Given the description of an element on the screen output the (x, y) to click on. 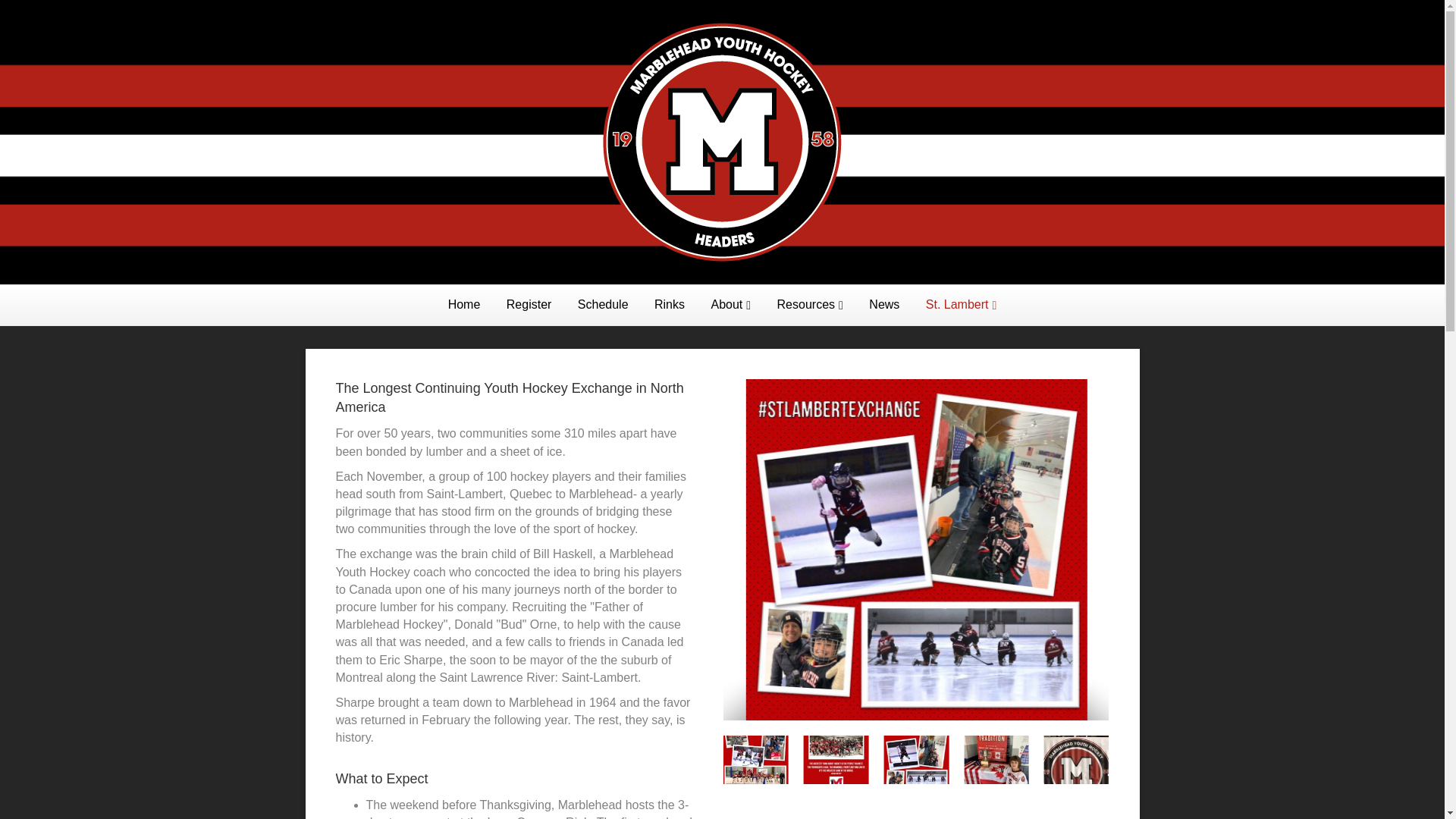
About (729, 305)
Home (464, 304)
Rinks (669, 304)
Resources (809, 305)
Schedule (603, 304)
Register (529, 304)
